Given the description of an element on the screen output the (x, y) to click on. 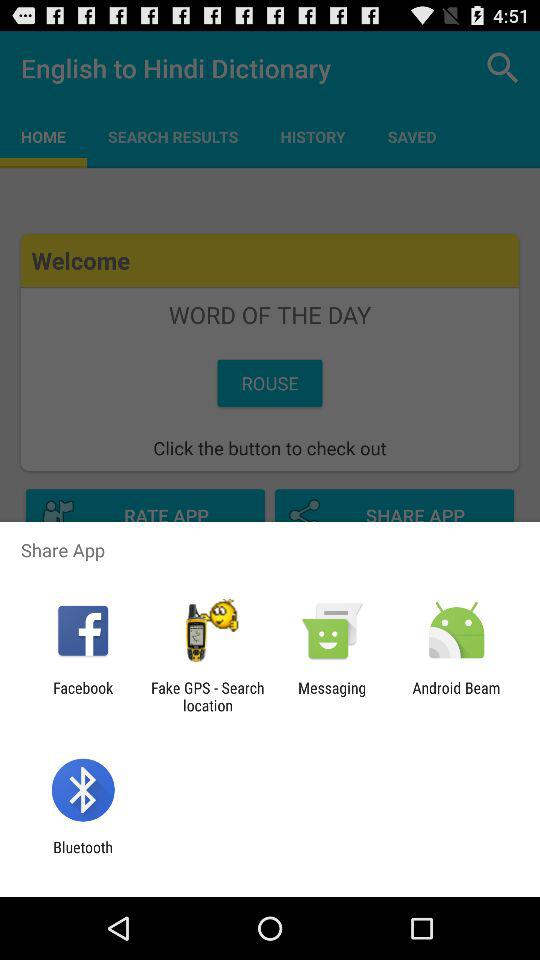
select the app at the bottom right corner (456, 696)
